Given the description of an element on the screen output the (x, y) to click on. 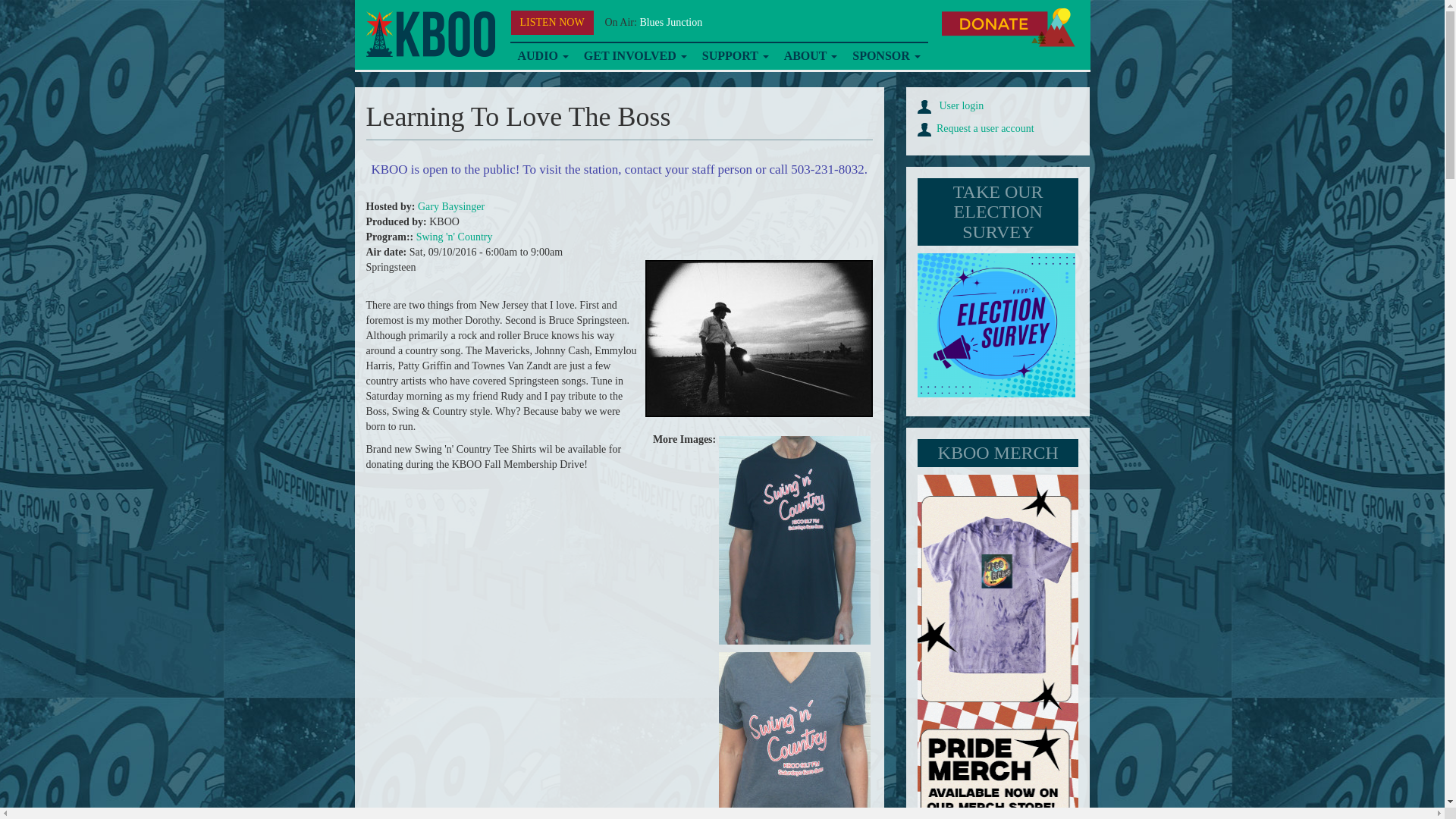
GET INVOLVED (635, 55)
Blues Junction (670, 21)
SUPPORT (735, 55)
LISTEN NOW (551, 22)
ABOUT (810, 55)
Home (430, 34)
AUDIO (542, 55)
